Given the description of an element on the screen output the (x, y) to click on. 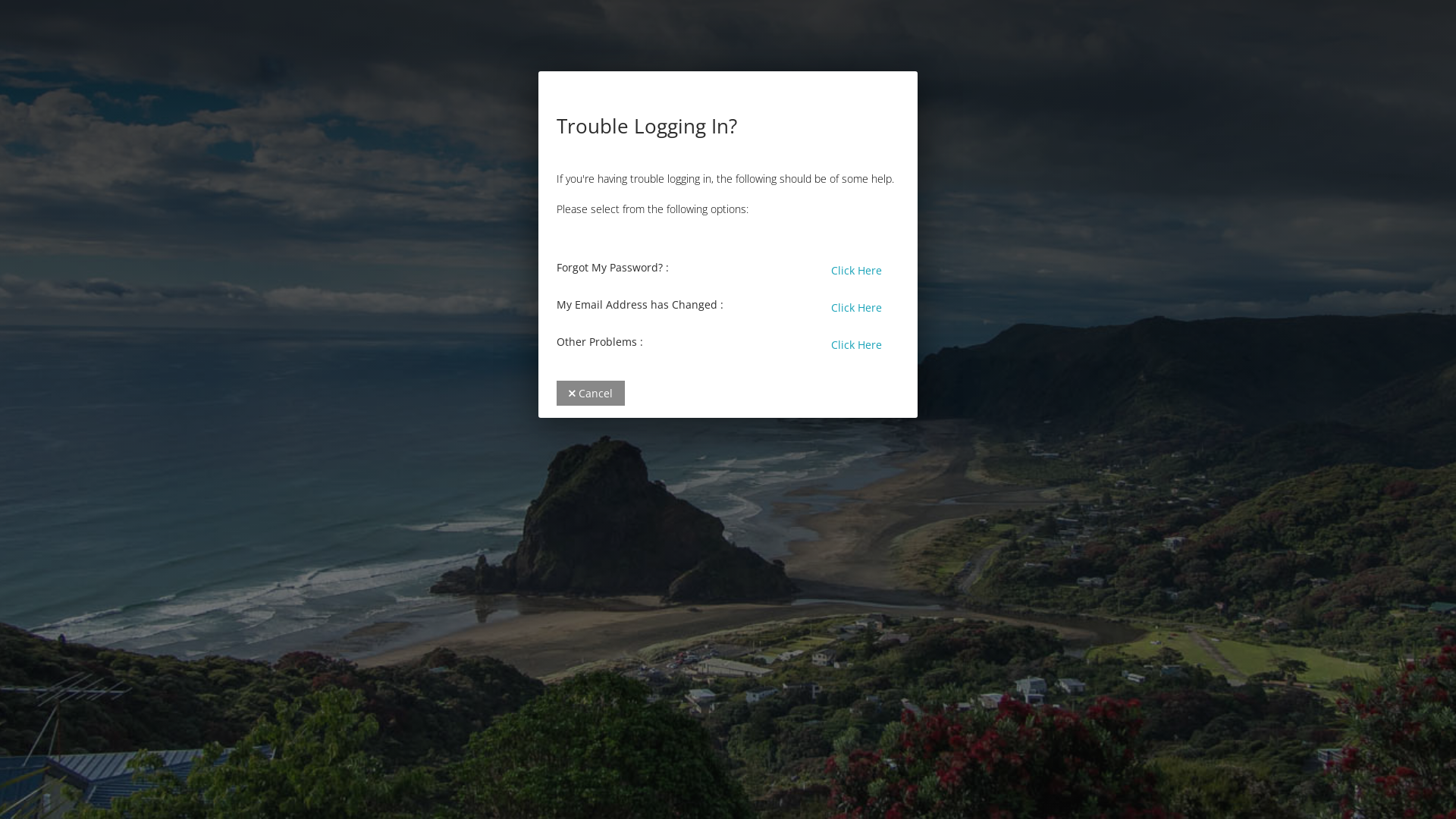
Cancel Element type: text (590, 392)
Click Here Element type: text (856, 270)
Click Here Element type: text (856, 307)
Click Here Element type: text (856, 344)
